Given the description of an element on the screen output the (x, y) to click on. 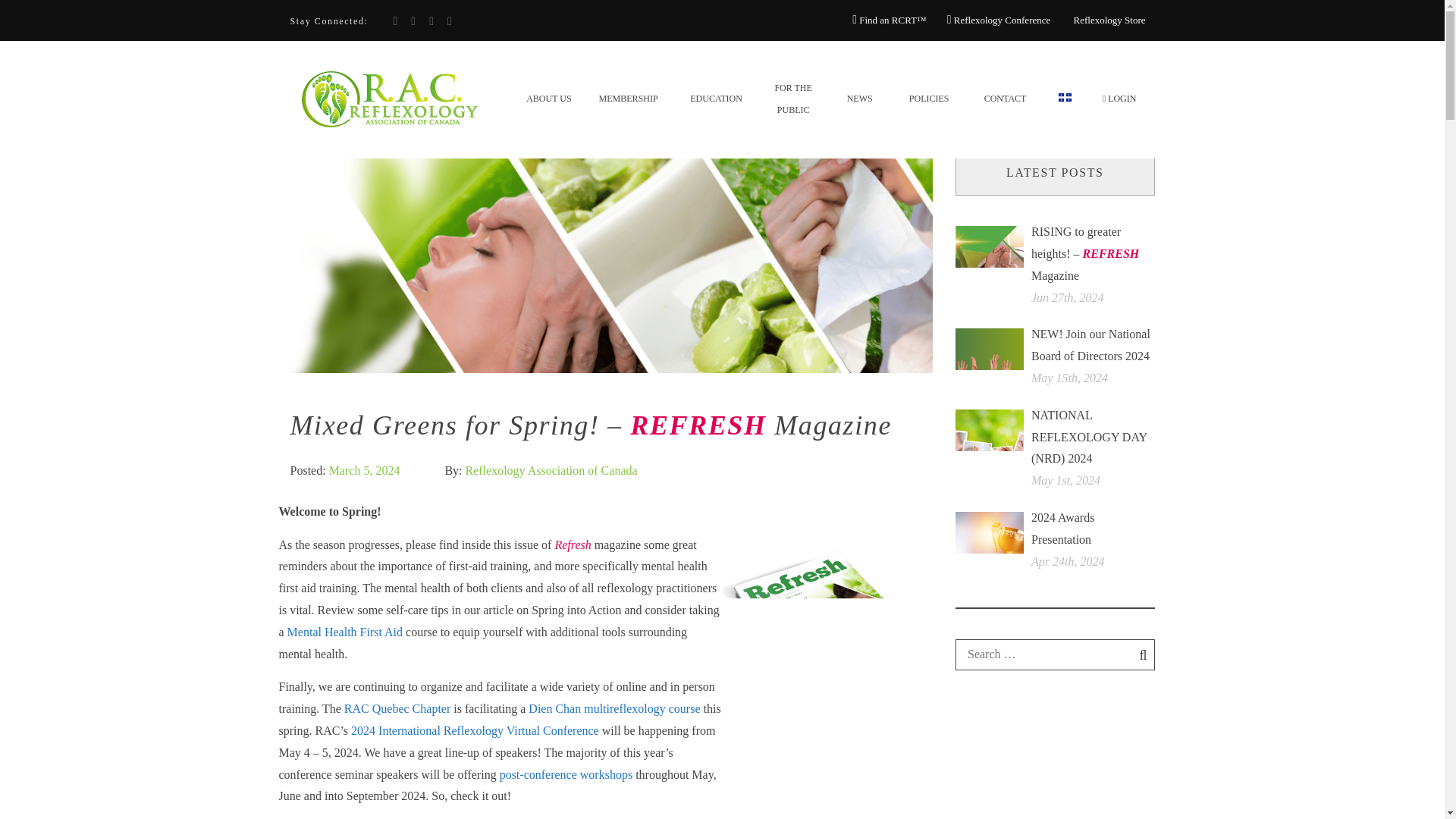
Reflexology Store (1107, 19)
Reflexology Conference (999, 19)
Posts by Reflexology Association of Canada (551, 470)
